Given the description of an element on the screen output the (x, y) to click on. 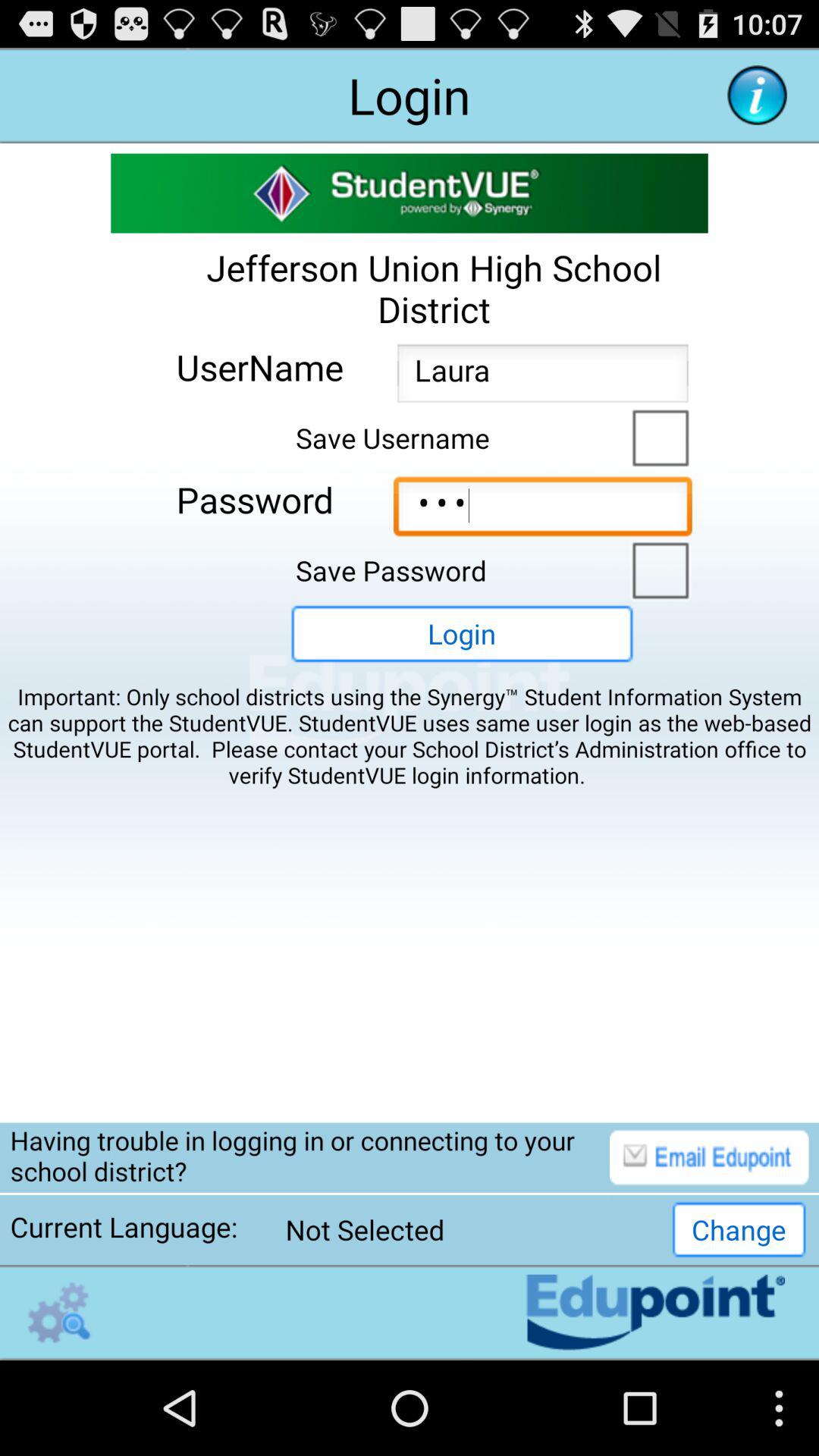
select setting (59, 1312)
